Given the description of an element on the screen output the (x, y) to click on. 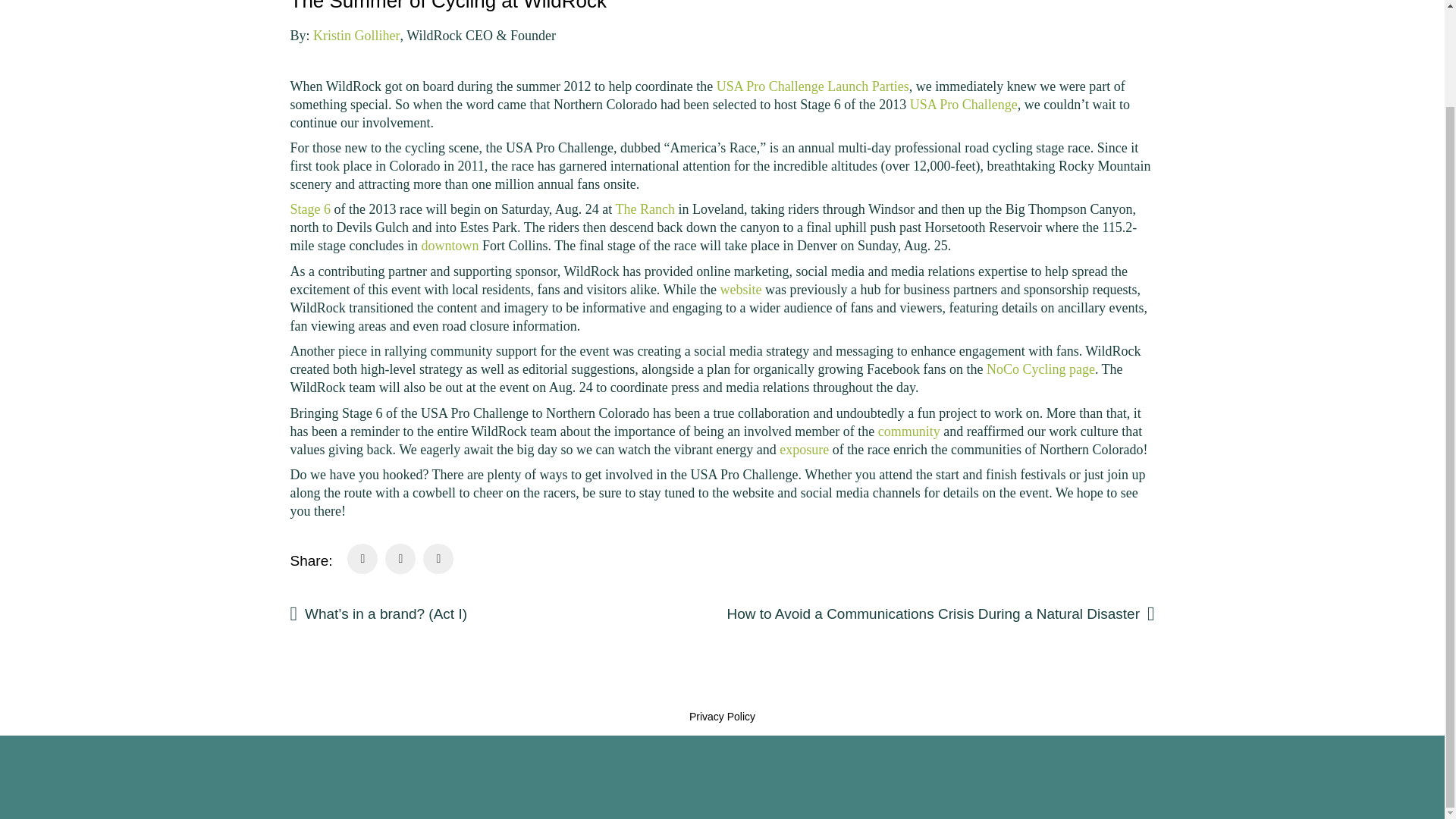
website (740, 289)
Kristin Golliher (356, 35)
USA Pro Challenge Launch Parties (812, 86)
Stage 6 (309, 209)
USA Pro Challenge (963, 104)
downtown  (449, 245)
downtown (449, 245)
NoCo Cycling page (1040, 368)
Kristin Golliher (356, 35)
The Ranch (644, 209)
